Given the description of an element on the screen output the (x, y) to click on. 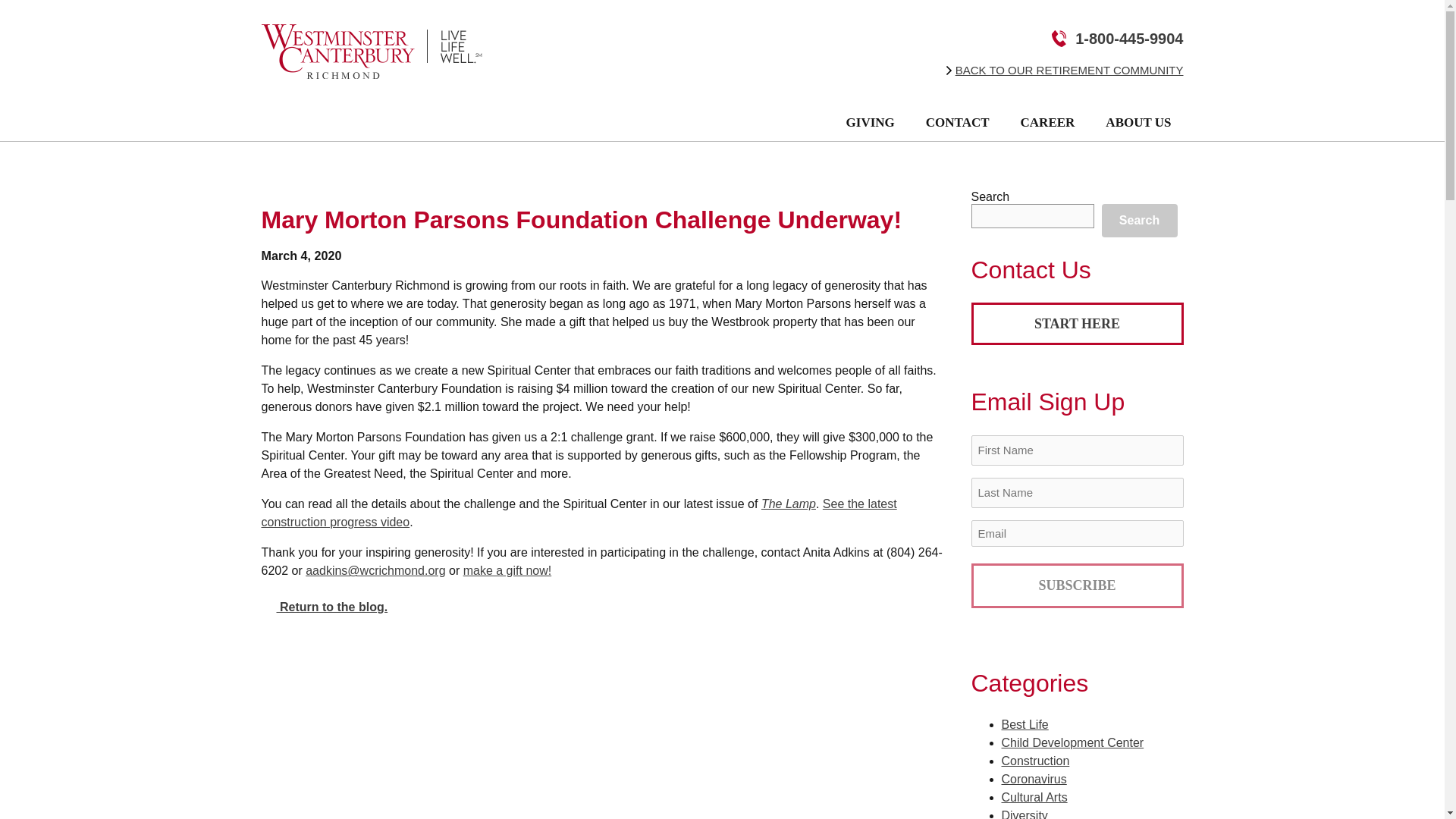
Subscribe (1076, 585)
CAREER (1056, 122)
Child Development Center (1071, 742)
Diversity (1023, 814)
GIVING (879, 122)
START HERE (1076, 323)
1-800-445-9904 (1128, 38)
Subscribe (1076, 585)
Return to the blog. (323, 606)
Construction (1034, 760)
make a gift now! (507, 570)
See the latest construction progress video (578, 512)
BACK TO OUR RETIREMENT COMMUNITY (1069, 69)
Best Life (1024, 724)
Cultural Arts (1034, 797)
